Given the description of an element on the screen output the (x, y) to click on. 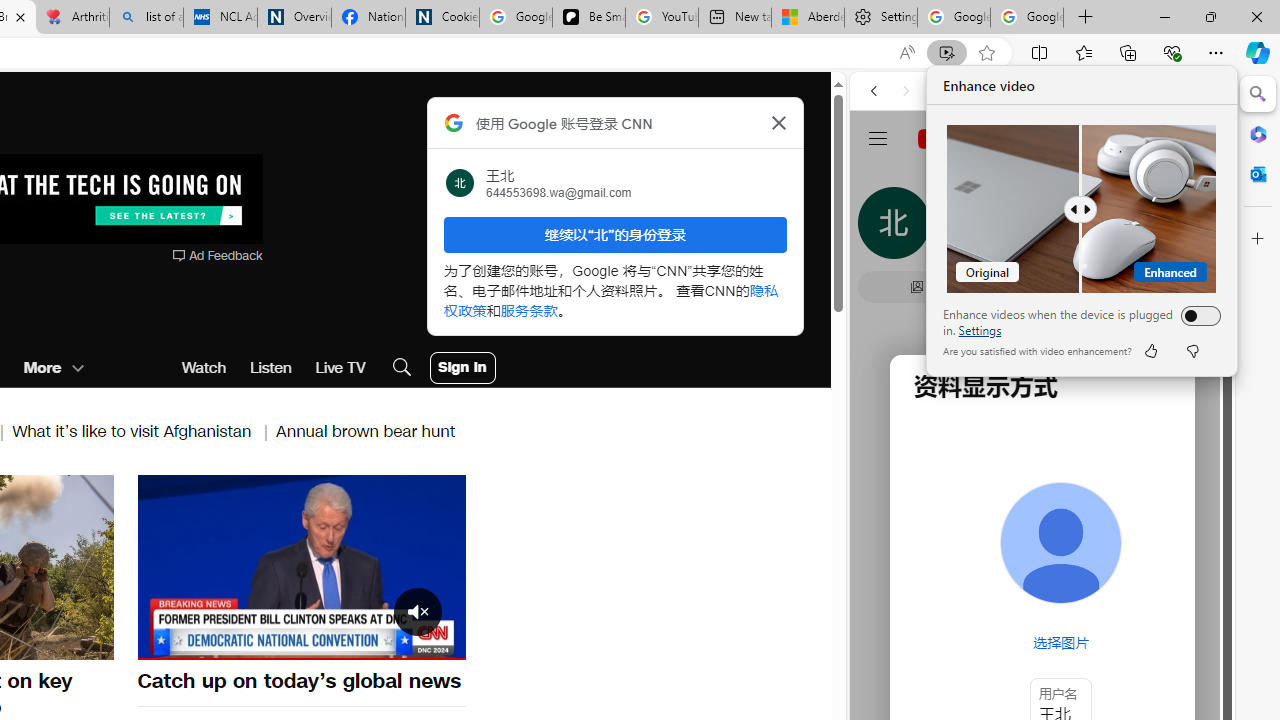
Captions Unavailable (350, 642)
Live TV (340, 367)
dislike (1192, 350)
Listen (270, 367)
Be Smart | creating Science videos | Patreon (588, 17)
Captions Unavailable (350, 642)
Show More Music (1164, 546)
Comparision (1081, 209)
